Given the description of an element on the screen output the (x, y) to click on. 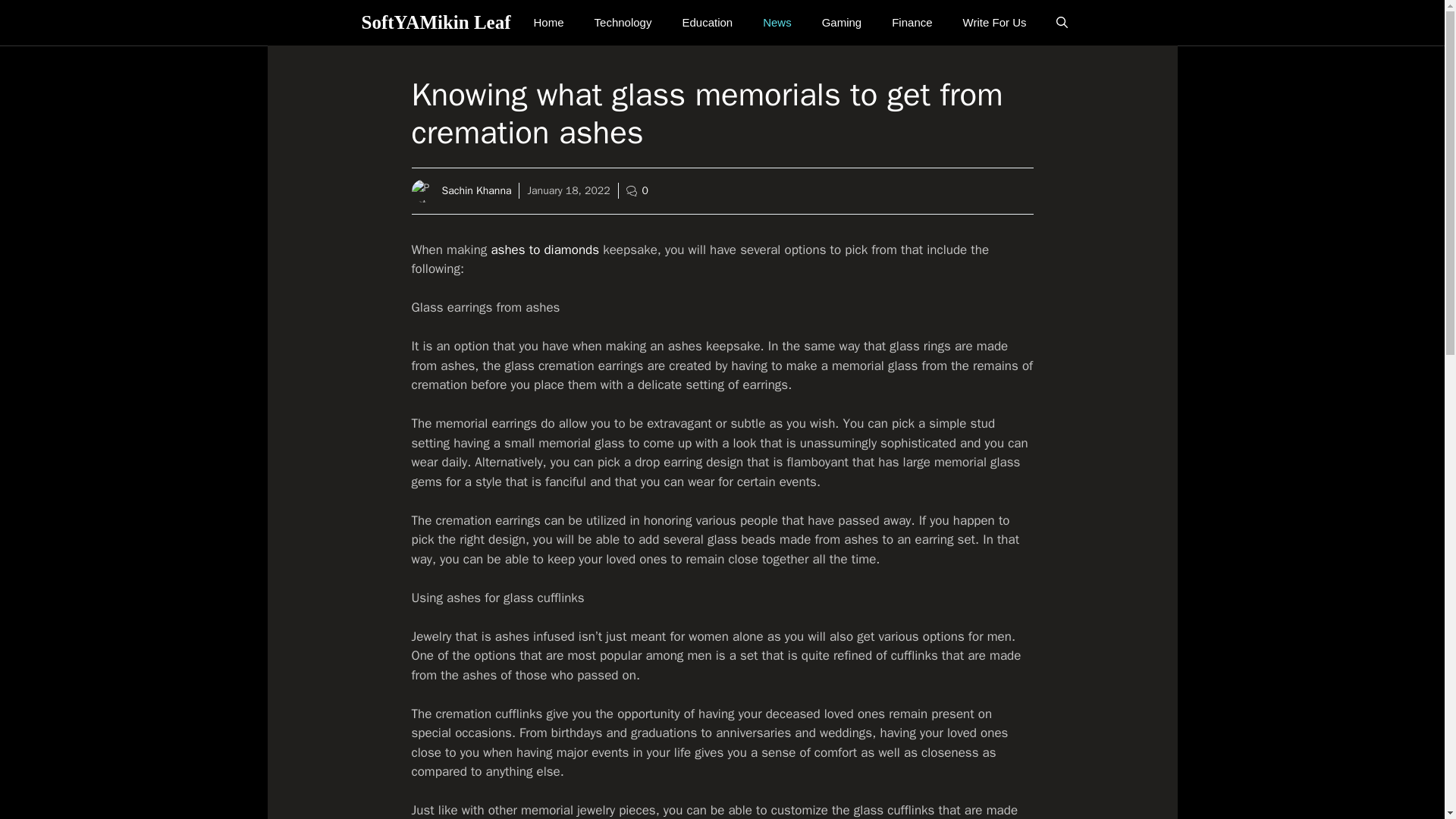
Write For Us (994, 22)
Sachin Khanna (476, 190)
News (777, 22)
Gaming (841, 22)
Home (548, 22)
Technology (622, 22)
Education (707, 22)
SoftYAMikin Leaf (436, 22)
Finance (911, 22)
ashes to diamonds (544, 249)
